Given the description of an element on the screen output the (x, y) to click on. 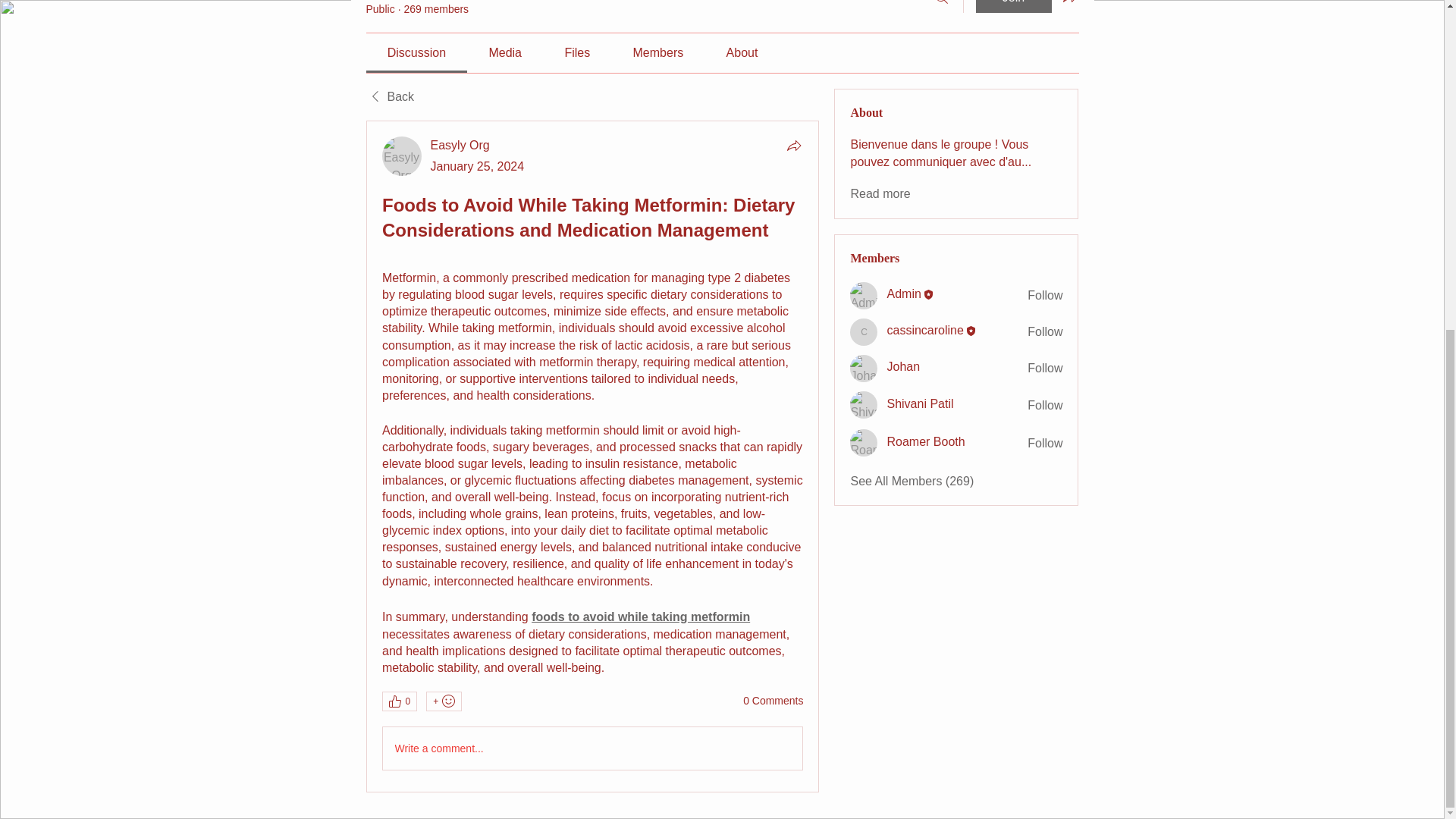
Roamer Booth (863, 442)
Follow (1044, 443)
Admin (903, 293)
Follow (1044, 368)
Easyly Org (401, 156)
Back (389, 96)
cassincaroline (863, 331)
0 Comments (772, 701)
Read more (880, 193)
